Given the description of an element on the screen output the (x, y) to click on. 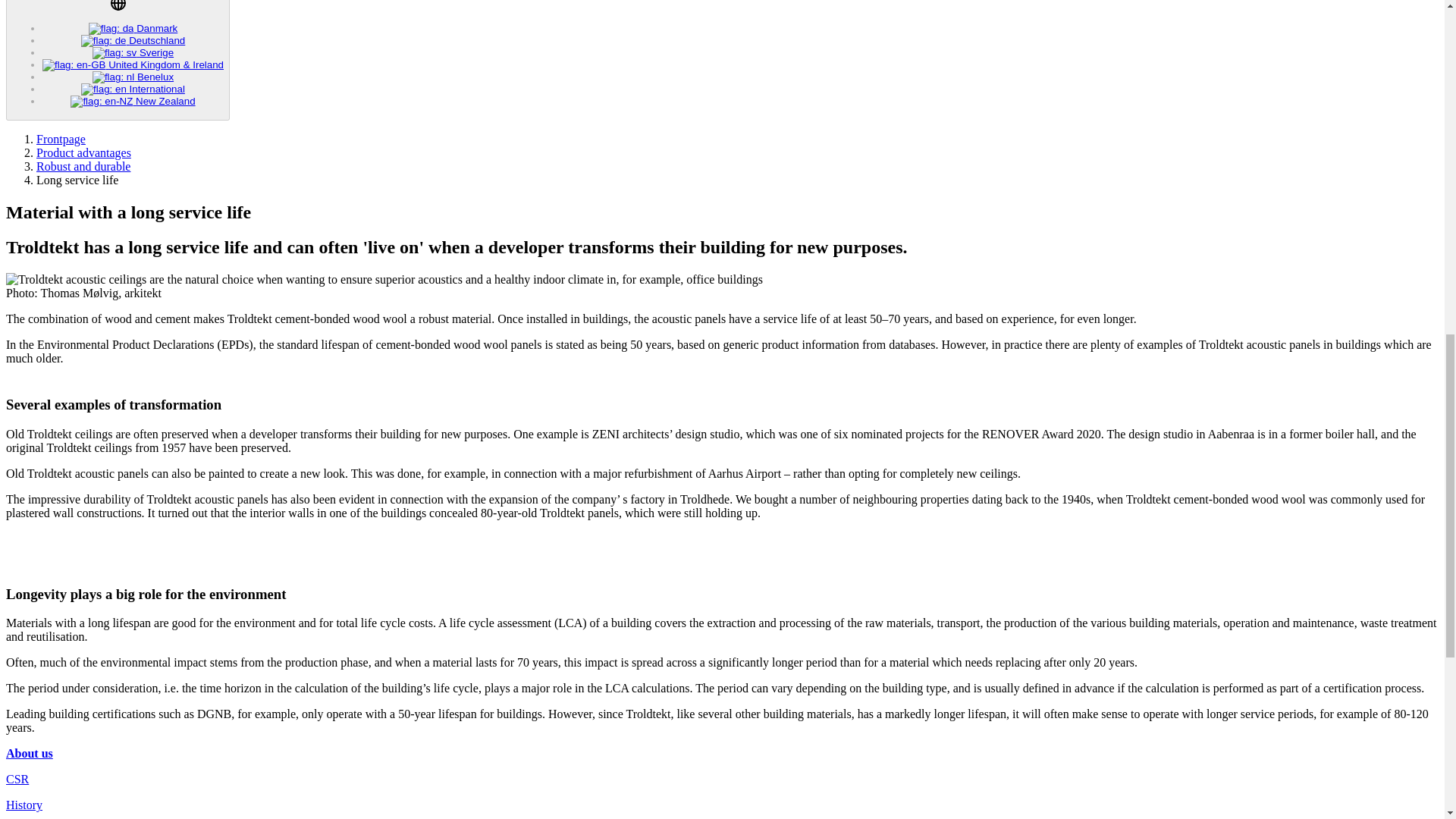
Historie (23, 804)
Deutschland (133, 40)
Om os (28, 753)
Danmark (132, 28)
CSR (17, 779)
International (132, 89)
Sverige (133, 52)
New Zealand (132, 101)
Benelux (133, 76)
